Given the description of an element on the screen output the (x, y) to click on. 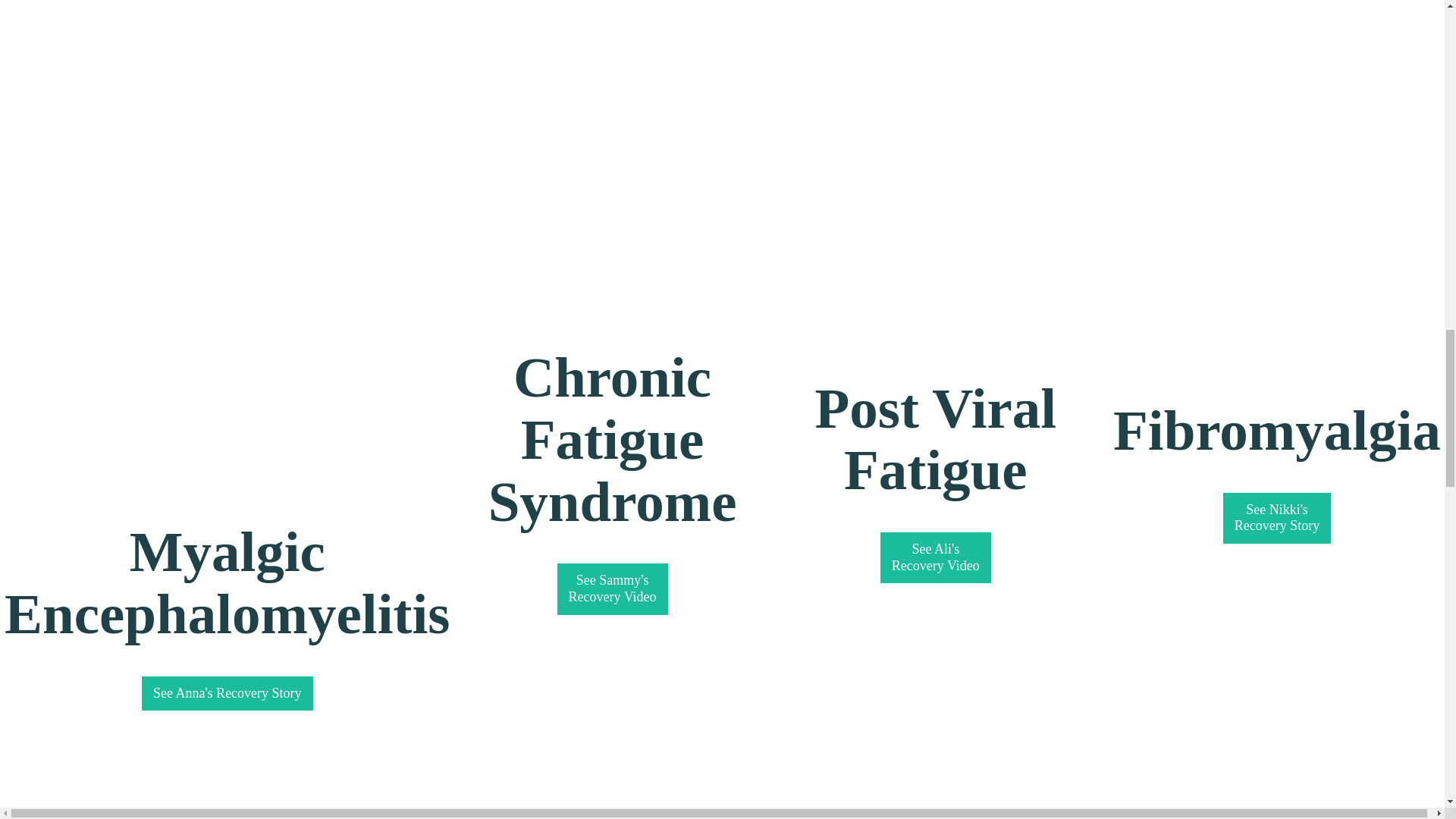
Ali (612, 588)
Fibromyalgia Recovery - Nikki (935, 557)
See Anna's Recovery Story (935, 204)
Chronic Fatigue Syndrome - Sammy (1277, 217)
Myalgic Encephalomyelitis - Anna (227, 693)
